Given the description of an element on the screen output the (x, y) to click on. 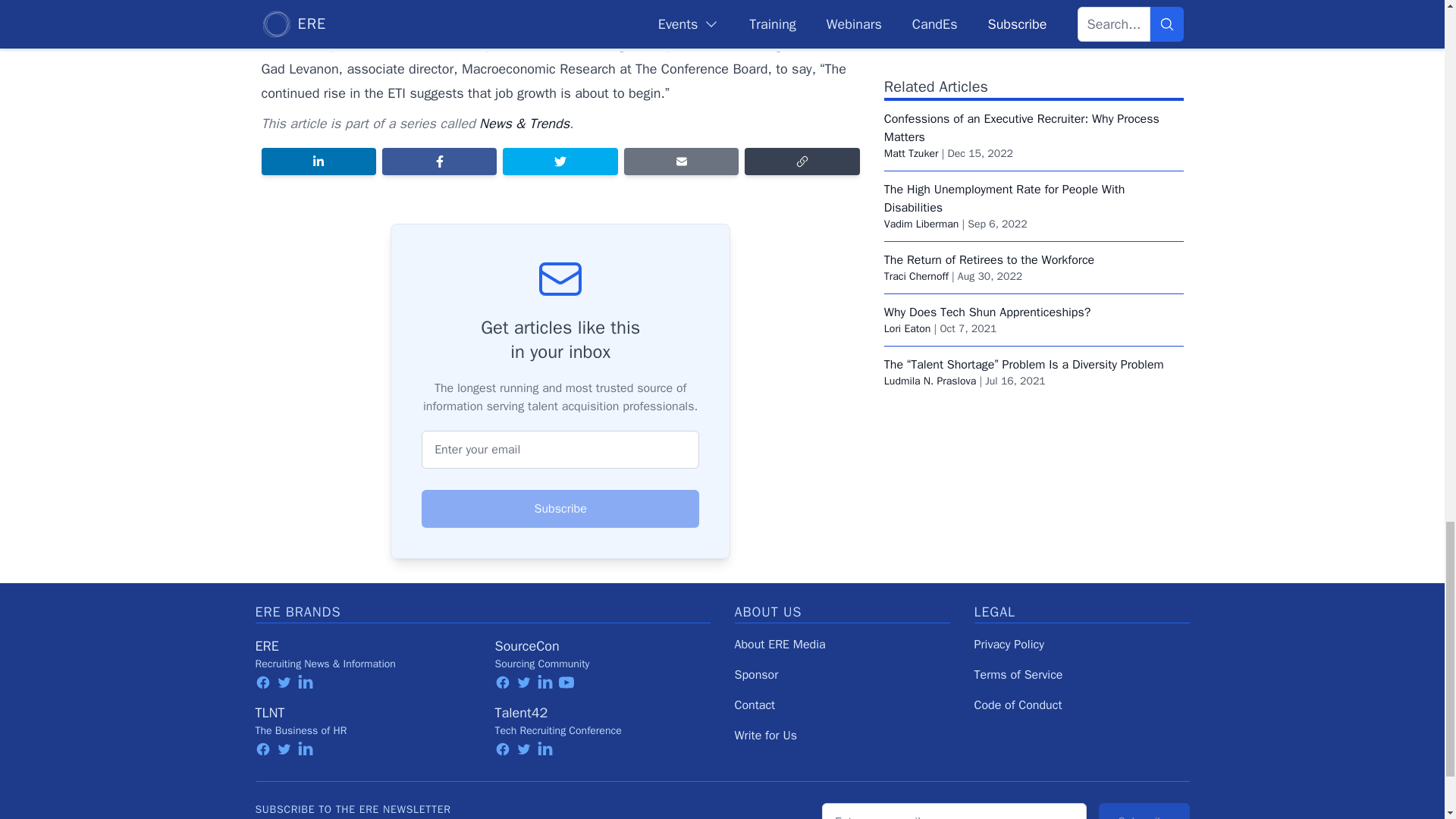
Traci Chernoff (916, 239)
The Return of Retirees to the Workforce (988, 222)
The High Unemployment Rate for People With Disabilities (1004, 162)
Why Does Tech Shun Apprenticeships? (986, 275)
Subscribe (560, 508)
Matt Tzuker (911, 116)
Vadim Liberman (920, 186)
Confessions of an Executive Recruiter: Why Process Matters (1020, 90)
